Given the description of an element on the screen output the (x, y) to click on. 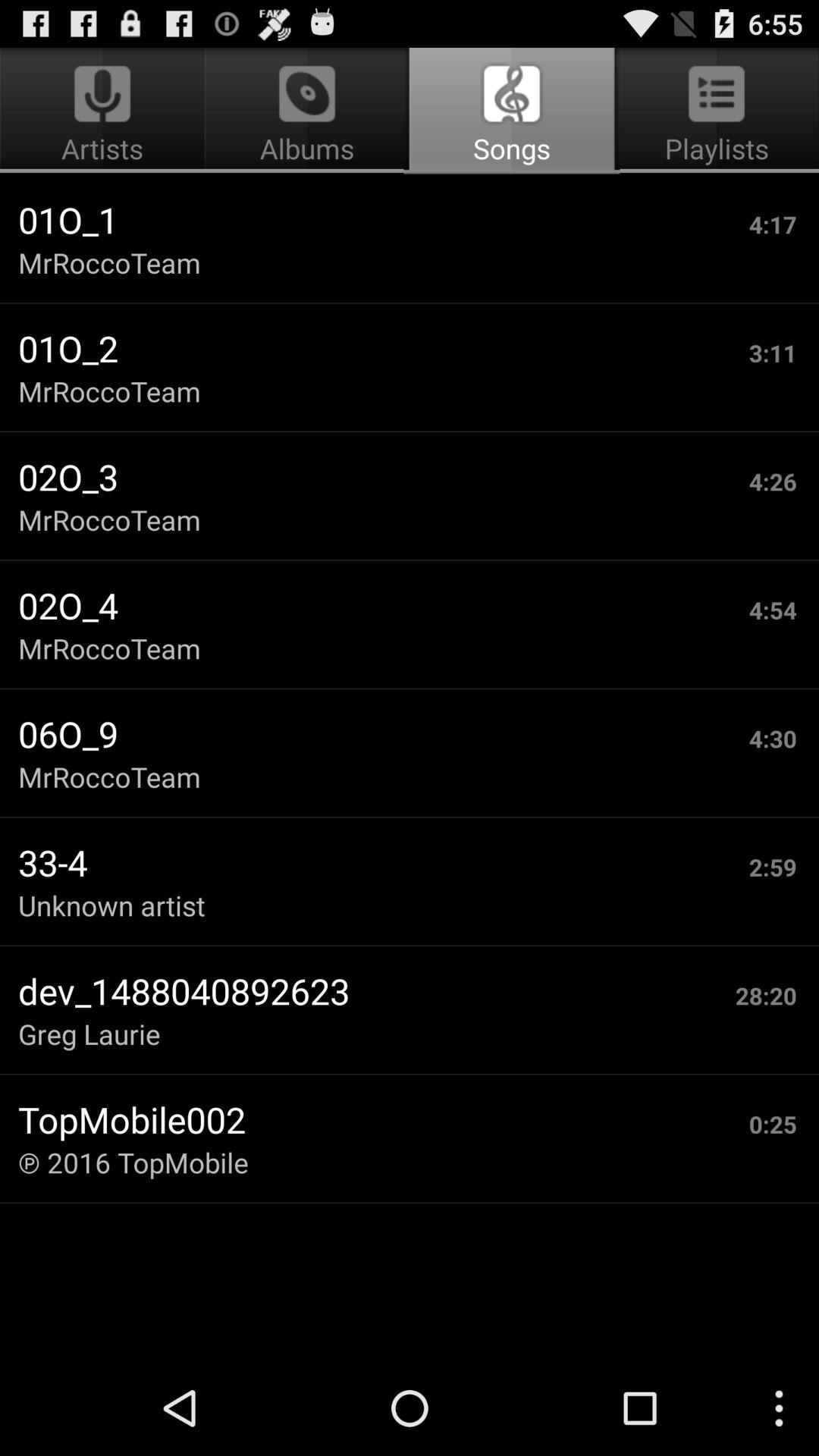
tap the icon to the right of artists app (511, 111)
